Given the description of an element on the screen output the (x, y) to click on. 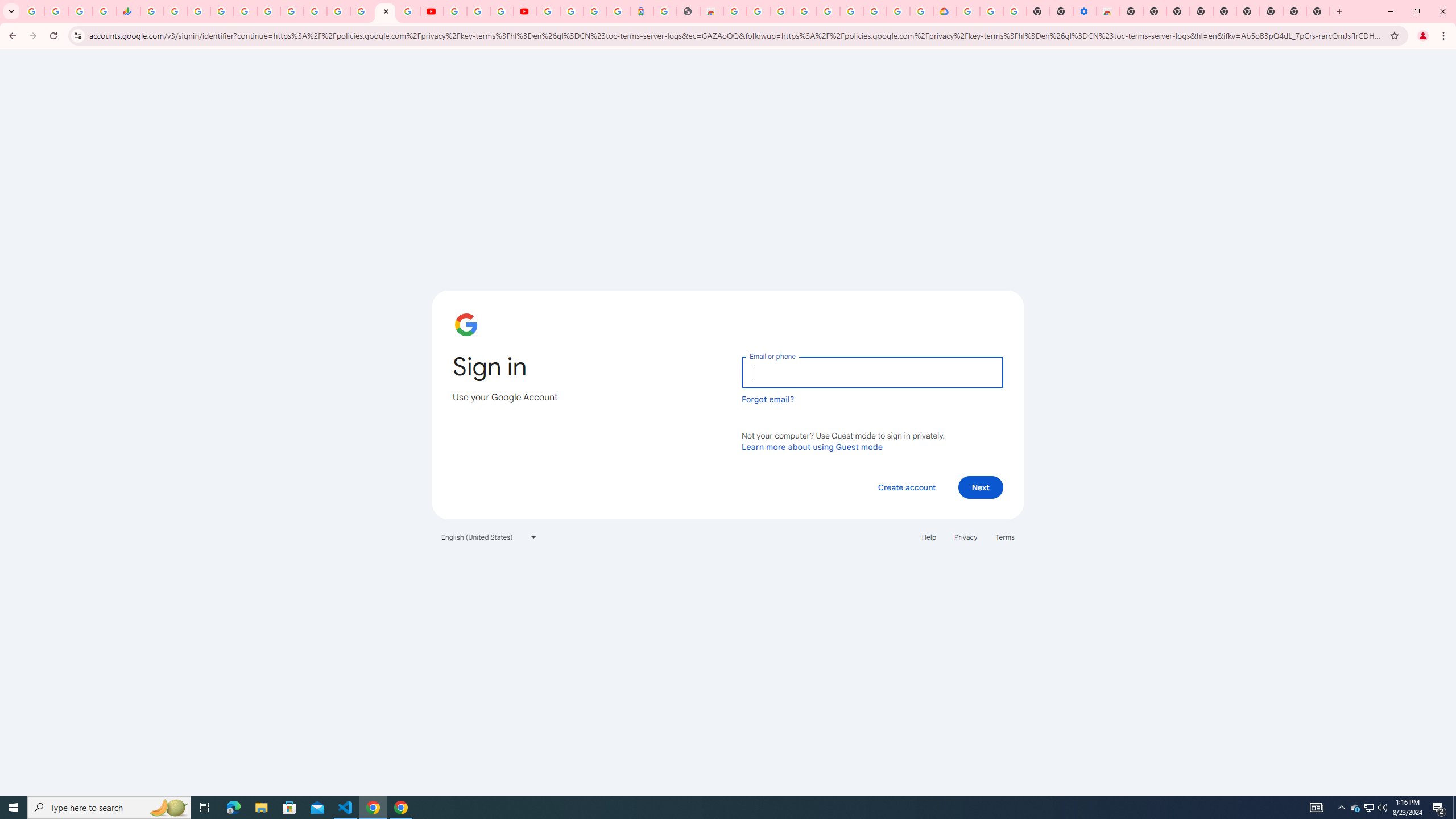
Create your Google Account (757, 11)
Create your Google Account (501, 11)
Create account (905, 486)
YouTube (314, 11)
Help (928, 536)
YouTube (431, 11)
Learn more about using Guest mode (812, 446)
Turn cookies on or off - Computer - Google Account Help (1015, 11)
